Given the description of an element on the screen output the (x, y) to click on. 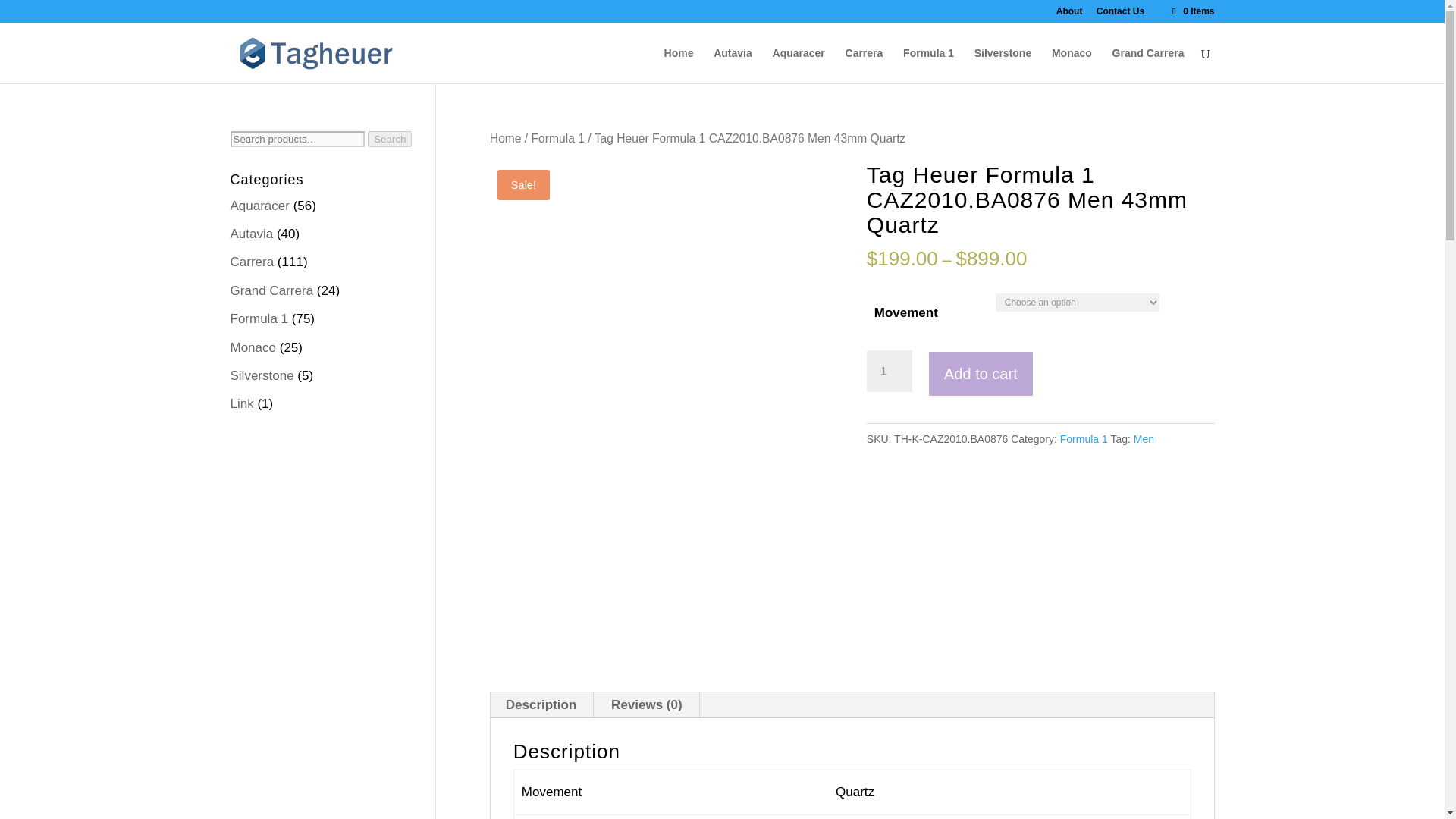
Contact Us (1120, 14)
1 (889, 371)
Carrera (864, 65)
Search (390, 139)
Formula 1 (558, 137)
Silverstone (262, 375)
Silverstone (1002, 65)
Aquaracer (259, 205)
Description (541, 705)
Grand Carrera (1148, 65)
